Given the description of an element on the screen output the (x, y) to click on. 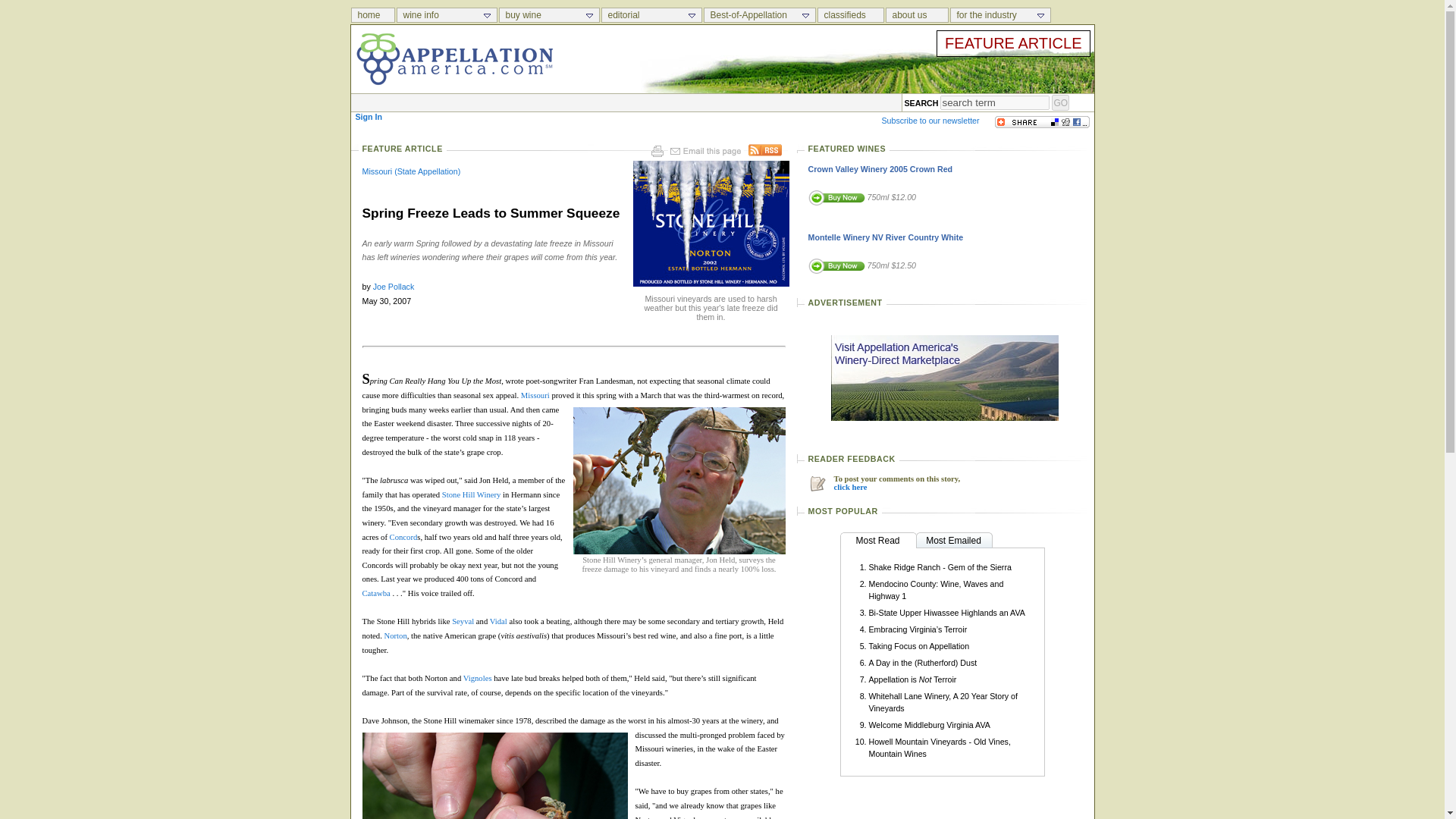
Appellation America Classifieds (850, 14)
GO (1059, 102)
wine info (446, 14)
home (372, 14)
Subscribe to our newsletter (929, 120)
buy wine (549, 14)
Sign In (368, 116)
Appellation America Home Page (373, 14)
Best-of-Appellation (759, 14)
editorial (650, 14)
